Given the description of an element on the screen output the (x, y) to click on. 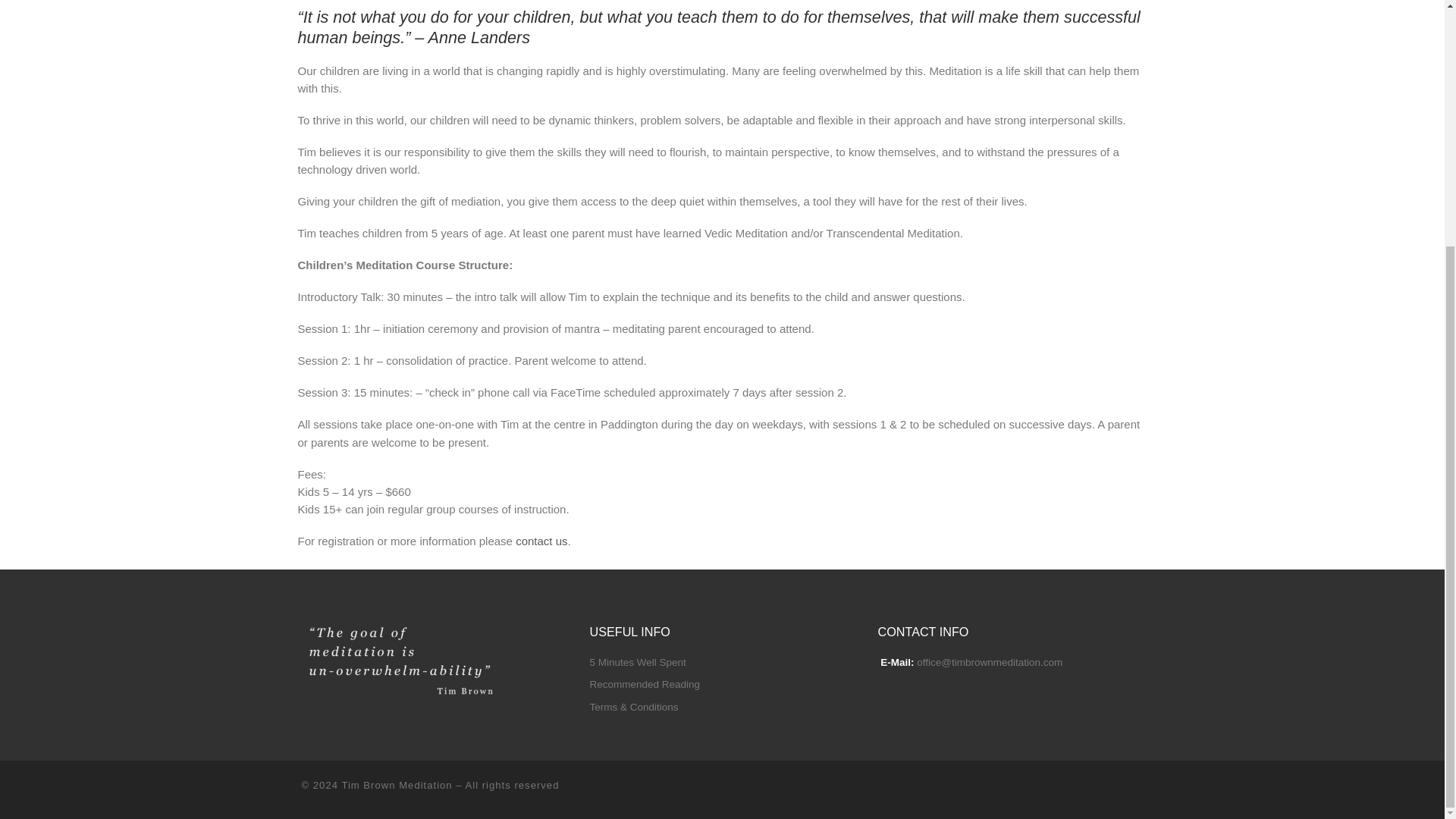
Tim Brown Meditation (395, 785)
Tim Brown Meditation (395, 785)
5 Minutes Well Spent (637, 662)
Recommended Reading (644, 684)
contact us (541, 540)
